Given the description of an element on the screen output the (x, y) to click on. 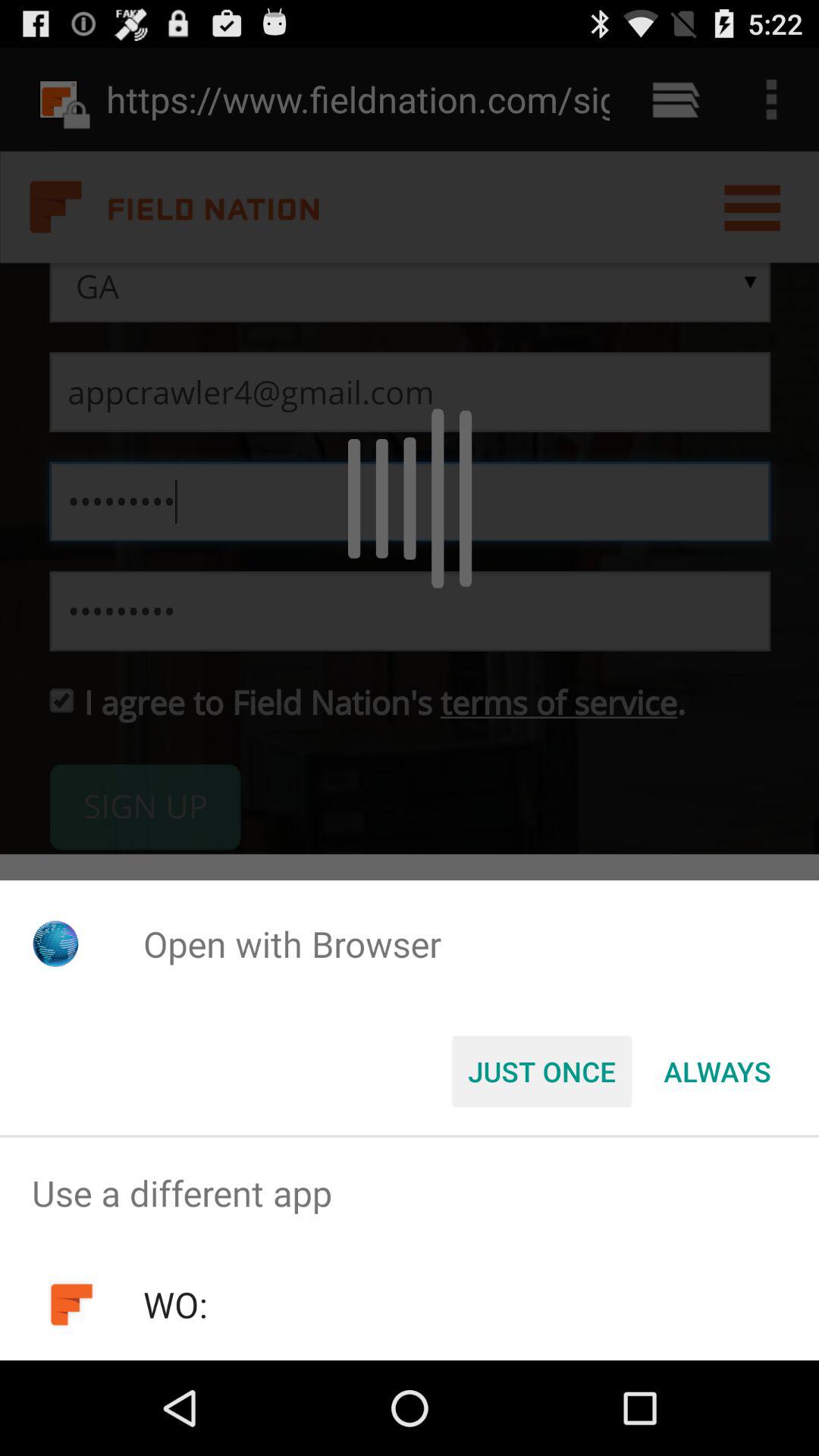
turn off icon below the open with browser icon (717, 1071)
